Given the description of an element on the screen output the (x, y) to click on. 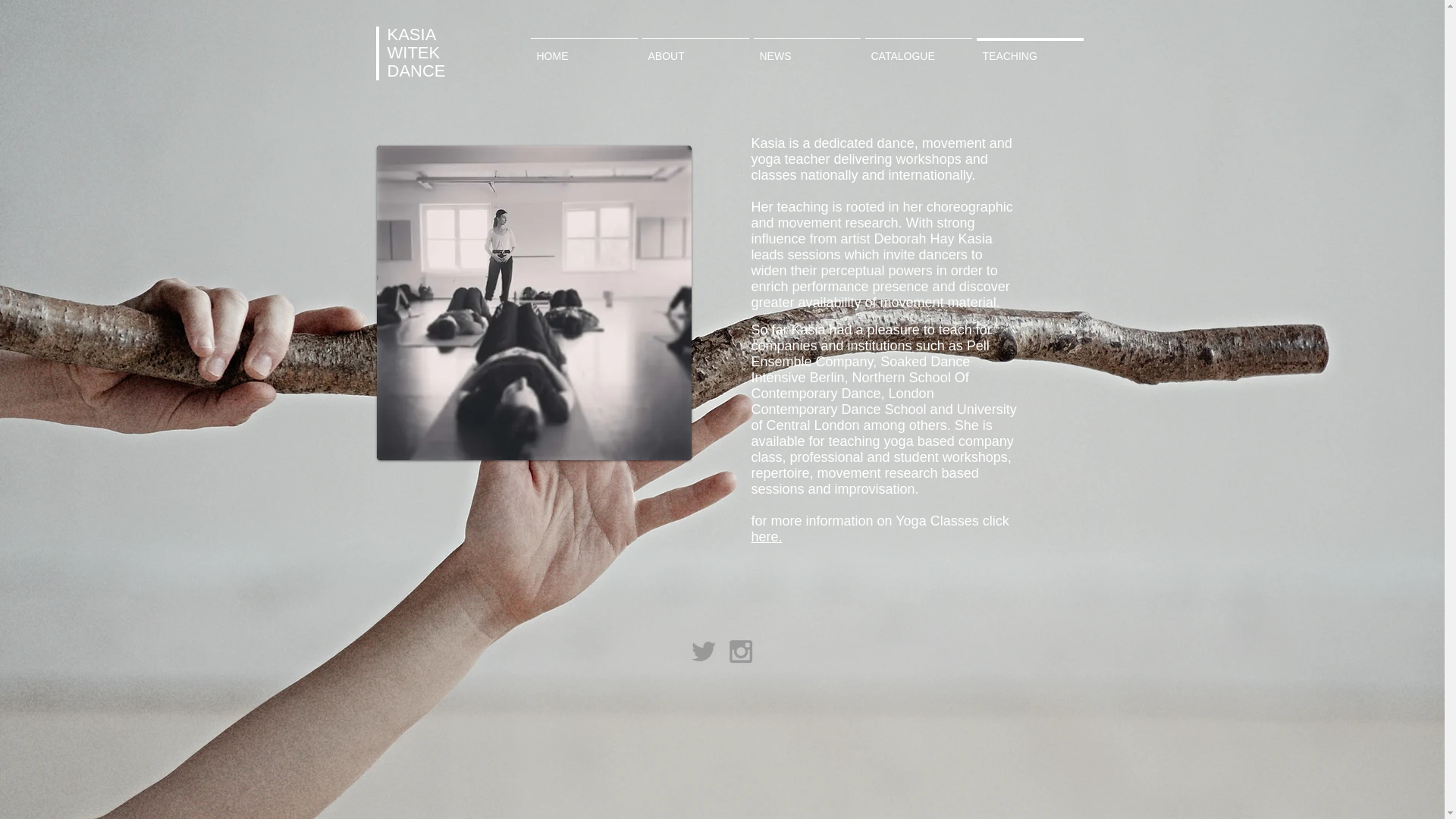
ABOUT (695, 48)
NEWS (806, 48)
TEACHING (1029, 48)
KASIA (411, 34)
CATALOGUE (918, 48)
HOME (583, 48)
here. (766, 536)
